Given the description of an element on the screen output the (x, y) to click on. 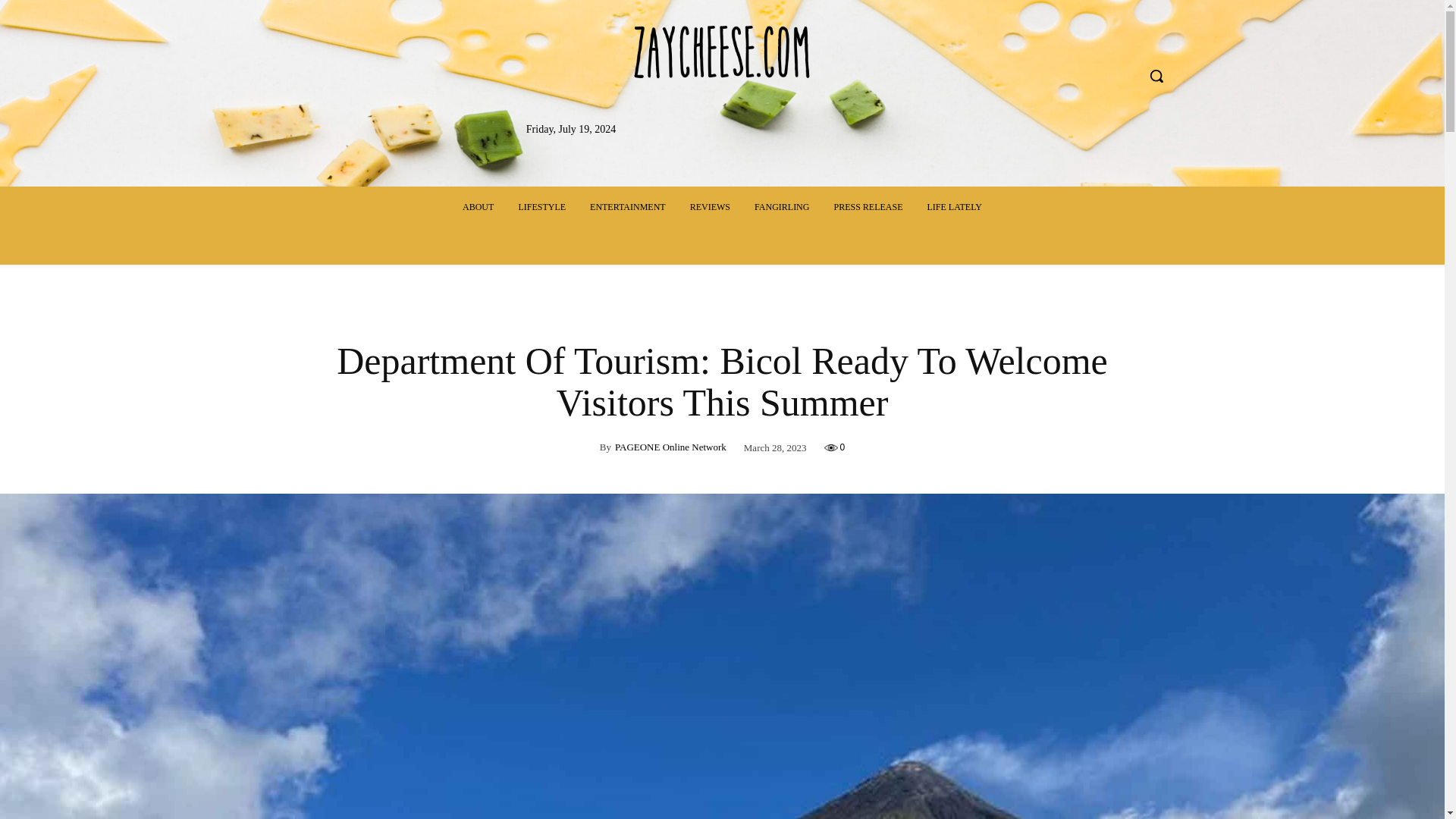
ENTERTAINMENT (628, 207)
REVIEWS (710, 207)
FANGIRLING (781, 207)
ABOUT (477, 207)
LIFESTYLE (541, 207)
PRESS RELEASE (867, 207)
PAGEONE Online Network (670, 447)
LIFE LATELY (953, 207)
